Given the description of an element on the screen output the (x, y) to click on. 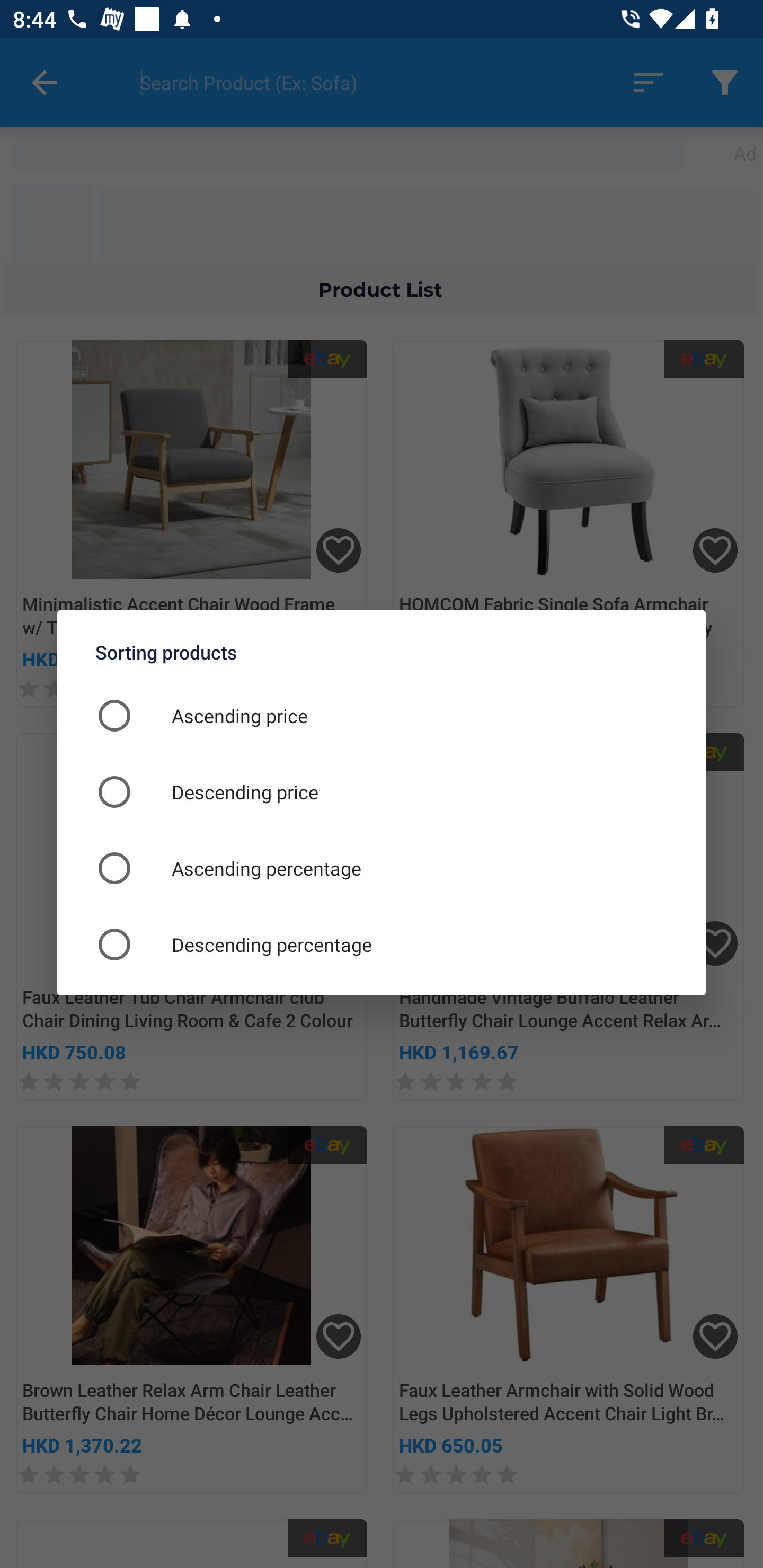
Ascending price (381, 715)
Descending price (381, 791)
Ascending percentage (381, 867)
Descending percentage (381, 944)
